Given the description of an element on the screen output the (x, y) to click on. 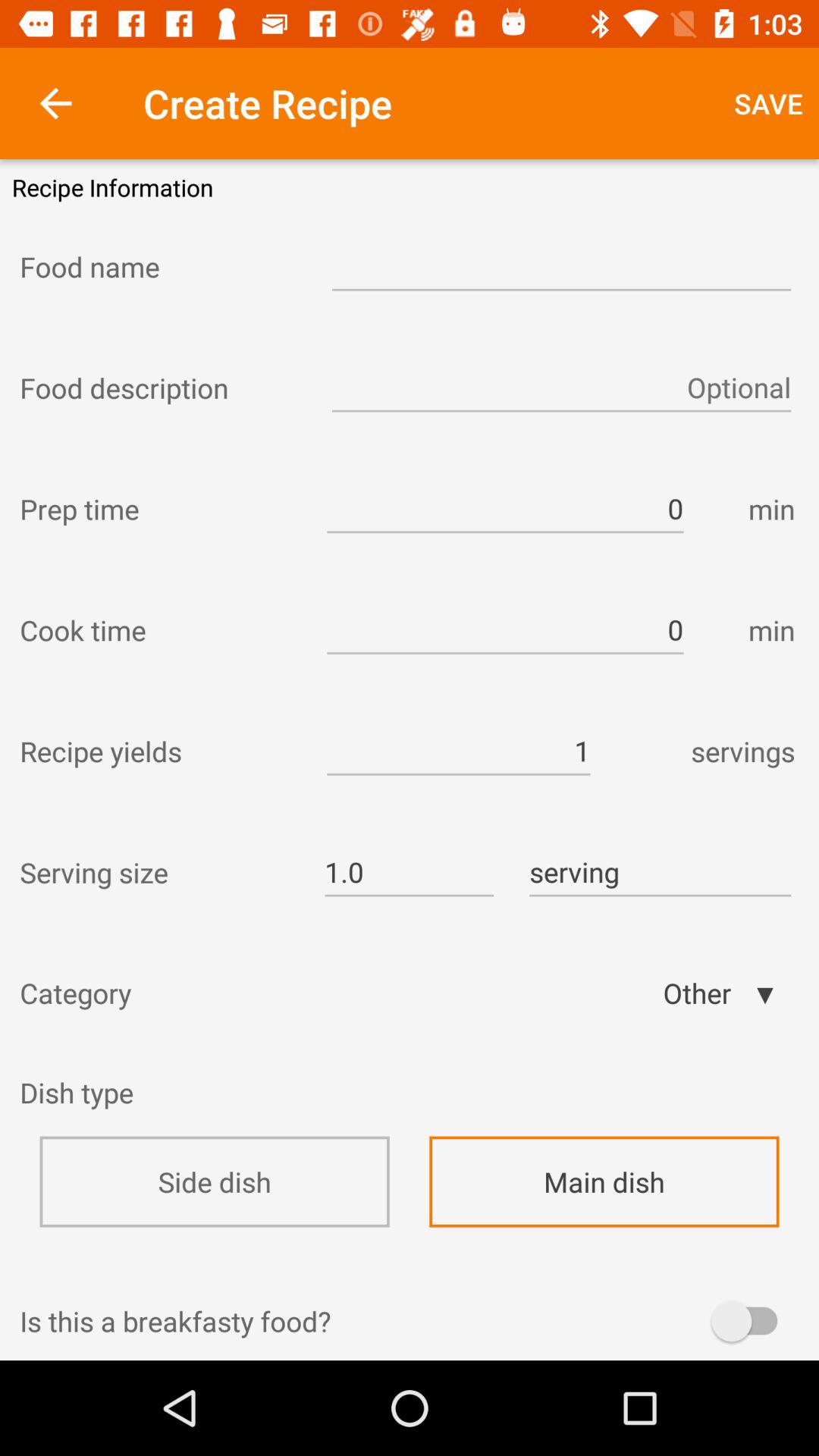
scroll until the servings item (701, 751)
